Given the description of an element on the screen output the (x, y) to click on. 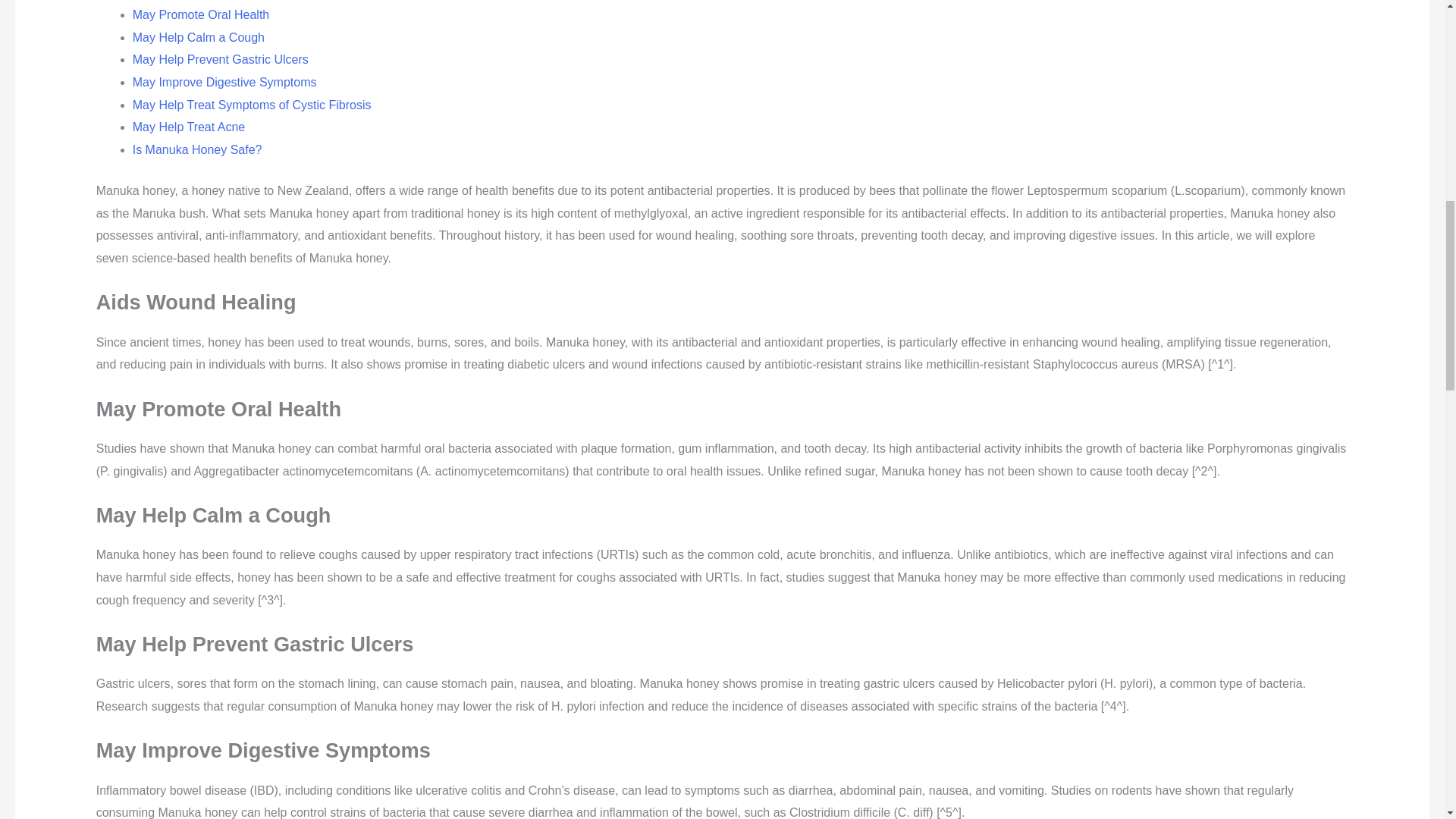
May Help Treat Symptoms of Cystic Fibrosis (251, 104)
May Help Calm a Cough (198, 37)
May Help Prevent Gastric Ulcers (220, 59)
May Promote Oral Health (200, 14)
Is Manuka Honey Safe? (197, 149)
May Help Treat Acne (189, 126)
May Improve Digestive Symptoms (224, 82)
